Given the description of an element on the screen output the (x, y) to click on. 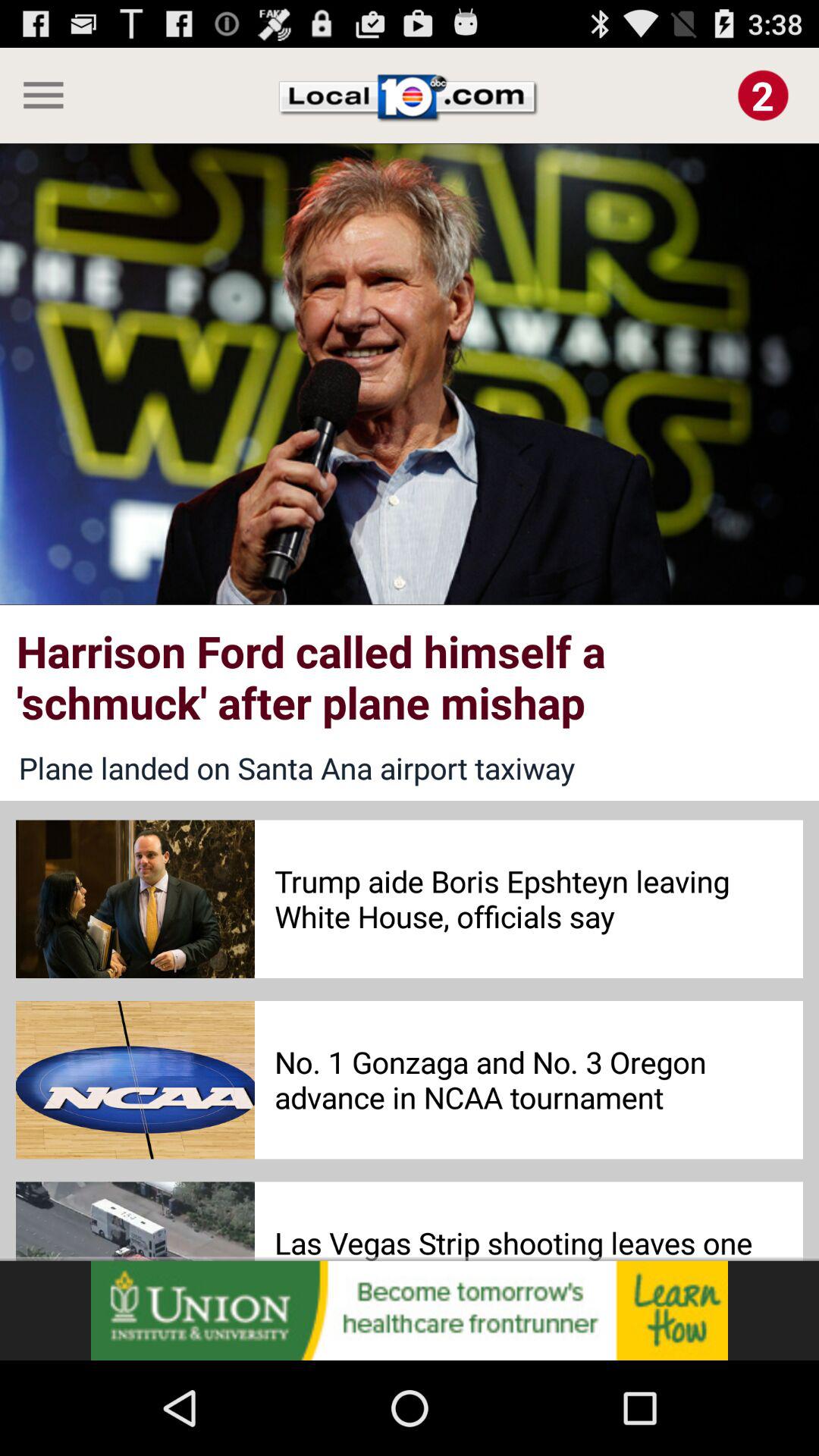
click on last image on left side of text las vegas (134, 1221)
